Given the description of an element on the screen output the (x, y) to click on. 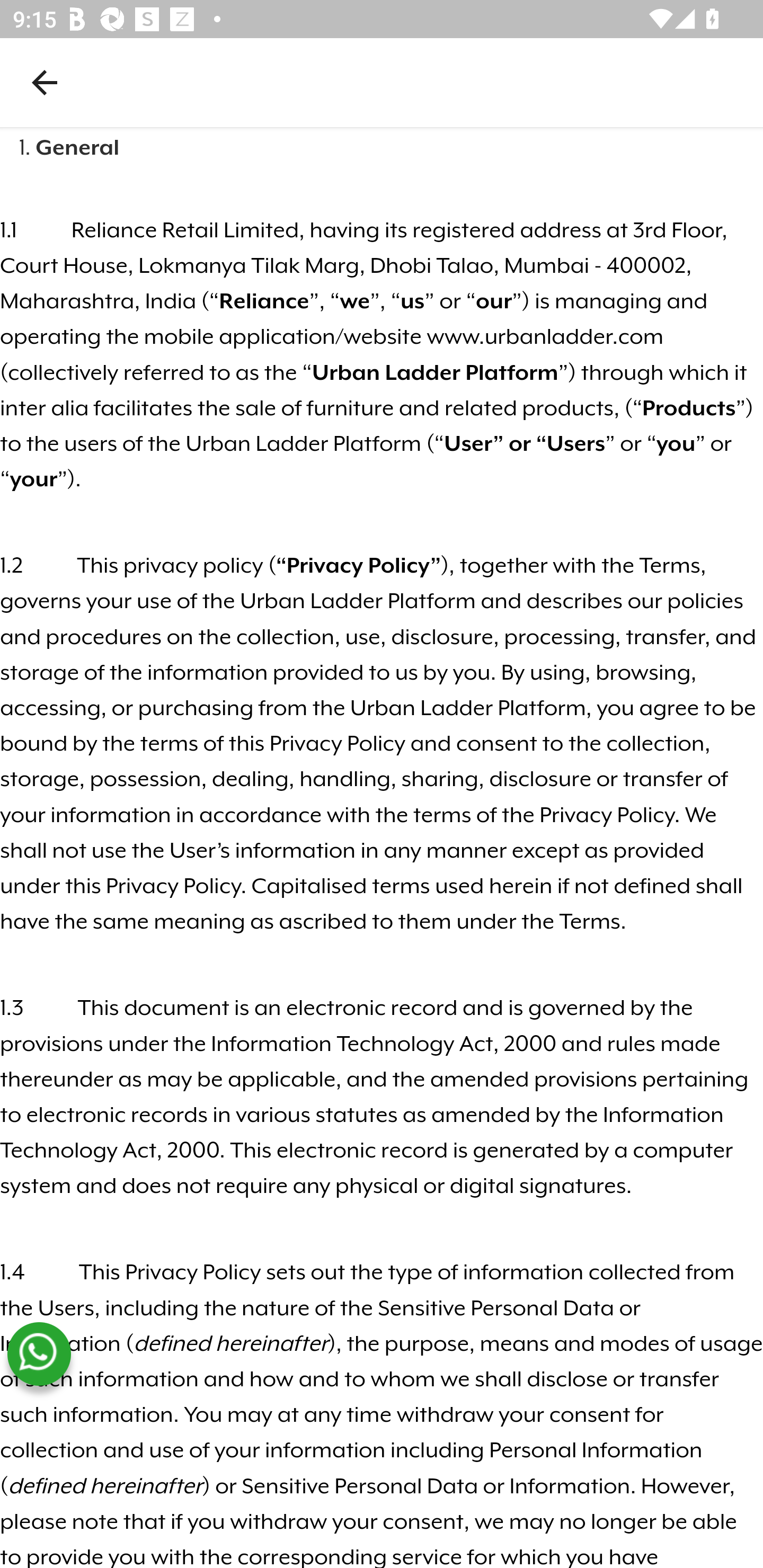
Navigate up (44, 82)
Terms (670, 564)
whatsapp (38, 1353)
